Given the description of an element on the screen output the (x, y) to click on. 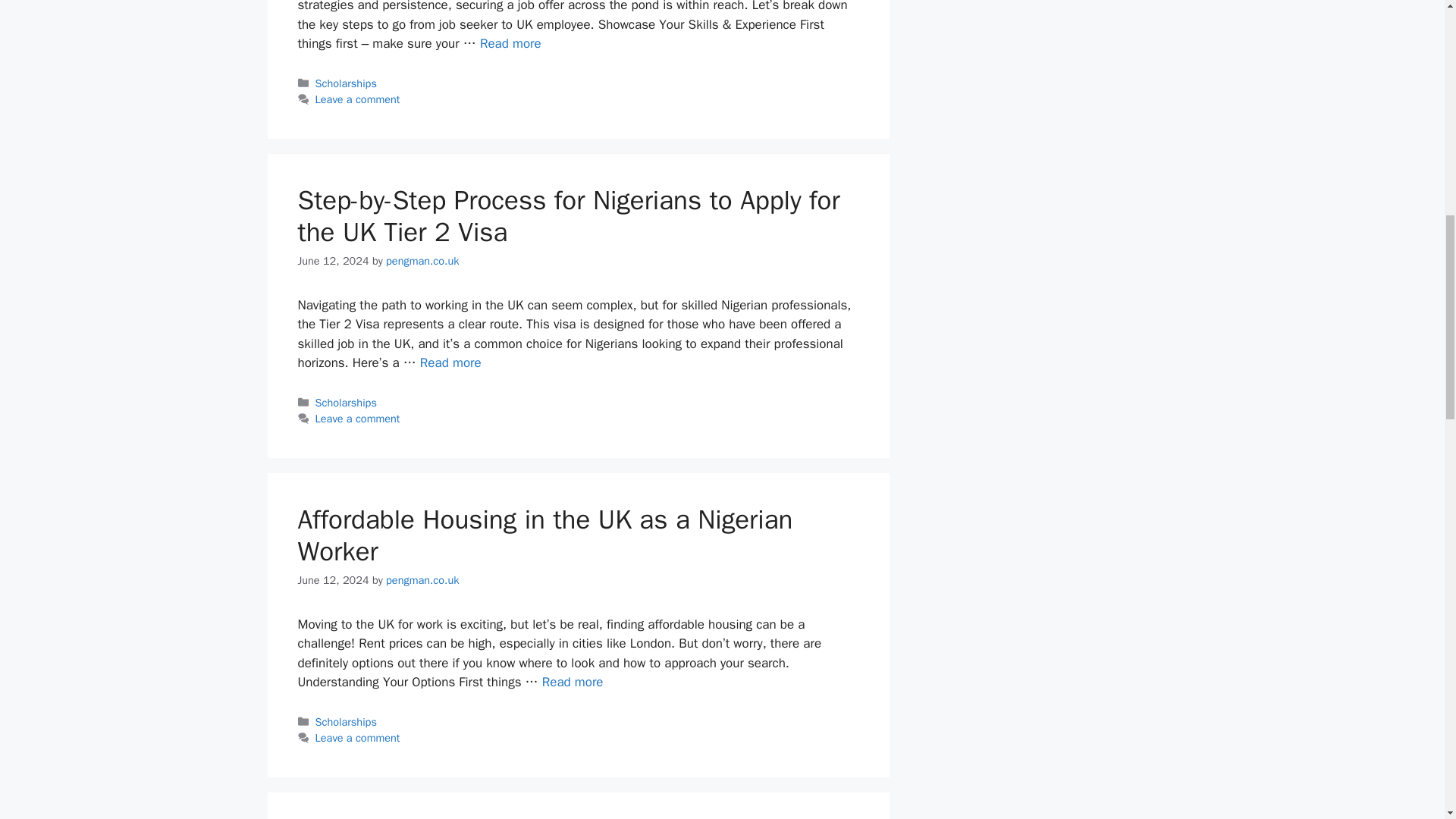
Scholarships (346, 402)
Scholarships (346, 721)
Scholarships (346, 83)
Leave a comment (357, 418)
View all posts by pengman.co.uk (421, 580)
Leave a comment (357, 99)
pengman.co.uk (421, 260)
Read more (510, 43)
How to Secure a UK Job Offer from Nigeria (510, 43)
pengman.co.uk (421, 580)
Affordable Housing in the UK as a Nigerian Worker (572, 682)
Leave a comment (357, 737)
View all posts by pengman.co.uk (421, 260)
Read more (450, 362)
